Given the description of an element on the screen output the (x, y) to click on. 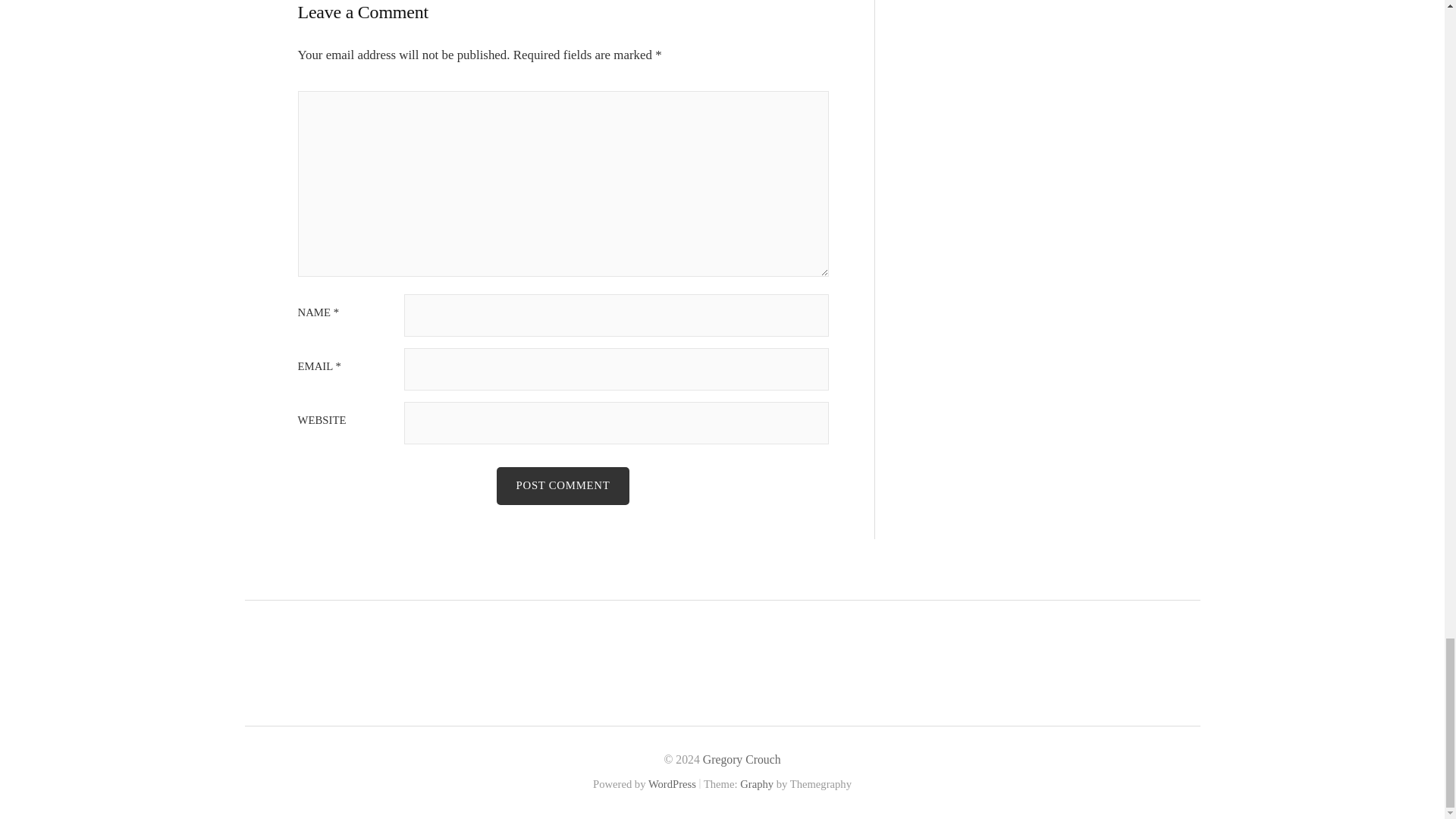
Post Comment (562, 485)
